Given the description of an element on the screen output the (x, y) to click on. 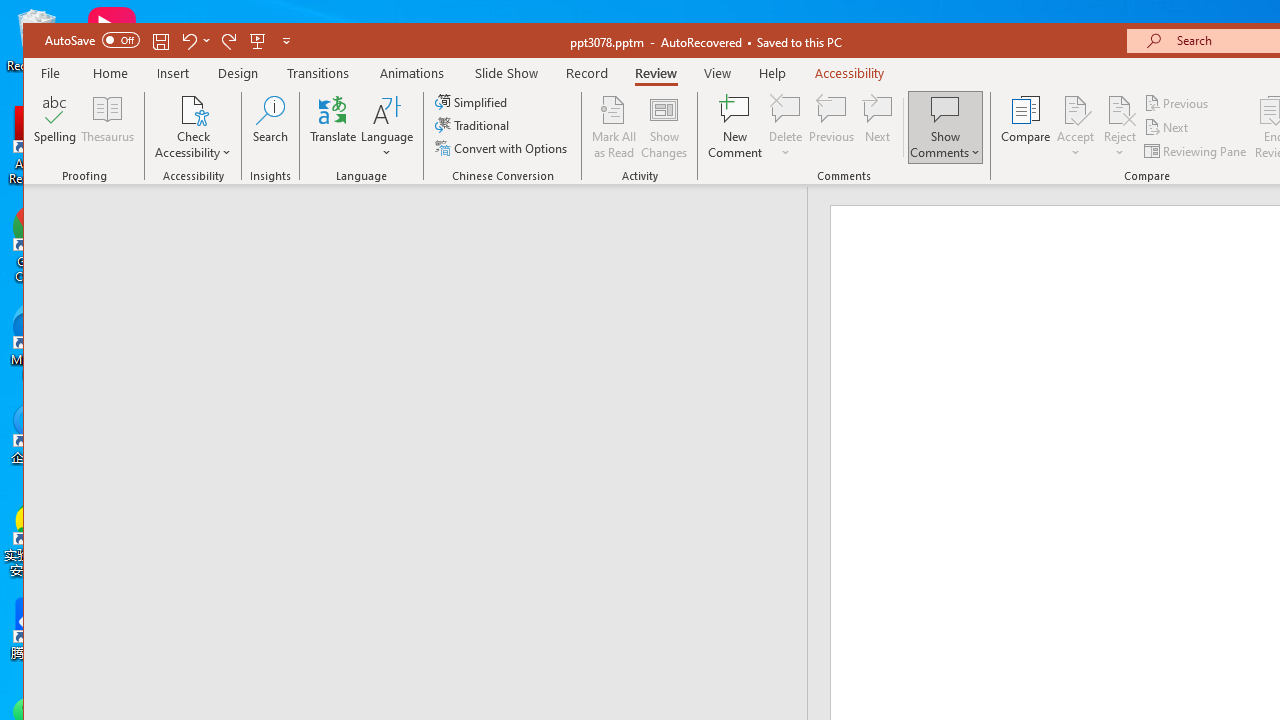
Simplified (473, 101)
Previous (1177, 103)
Spelling... (55, 127)
Outline (424, 226)
